Given the description of an element on the screen output the (x, y) to click on. 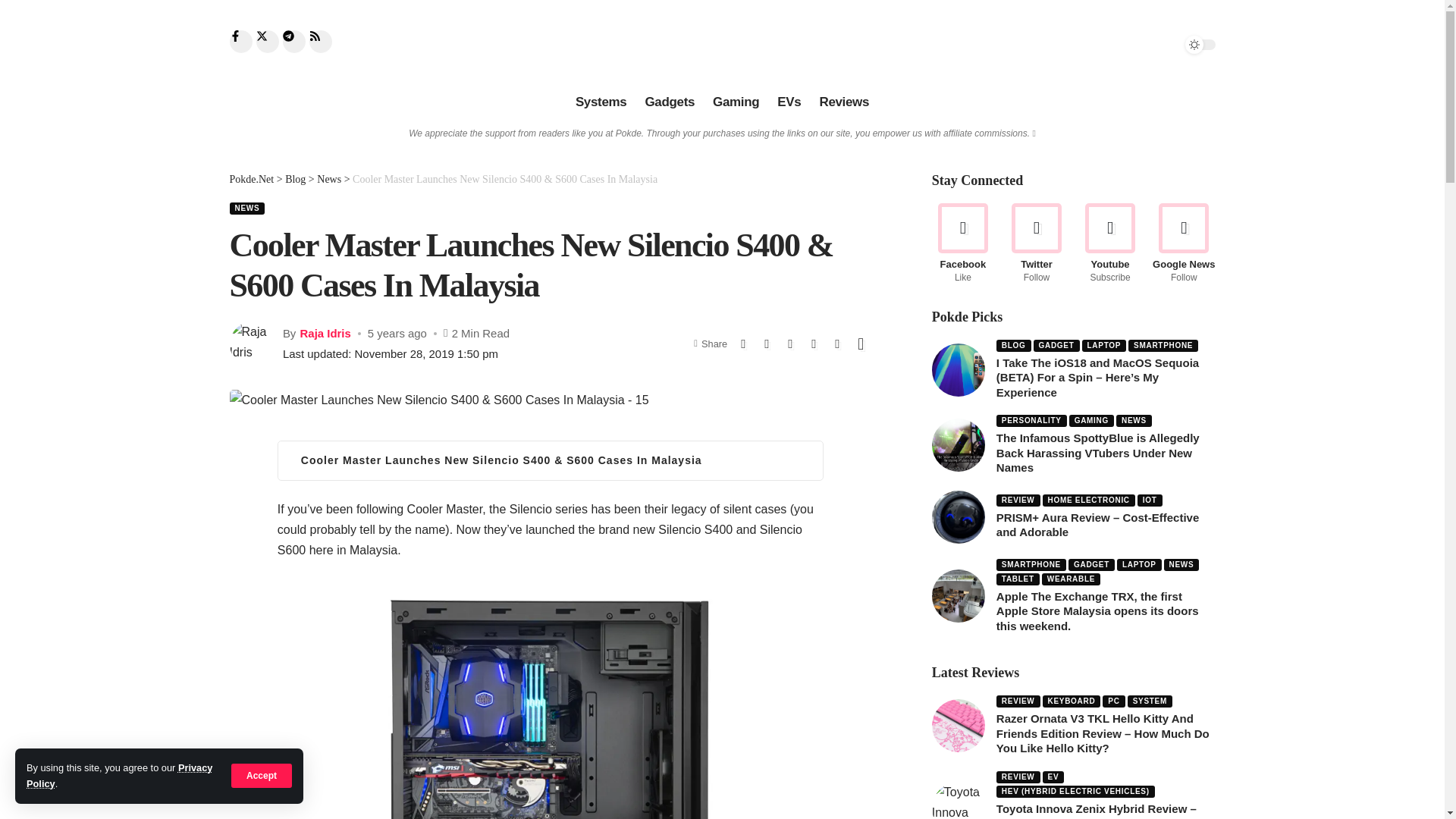
Go to Pokde.Net. (250, 179)
Go to Blog. (295, 179)
Reviews (843, 102)
Accept (261, 775)
Privacy Policy (119, 775)
EVs (788, 102)
Systems (601, 102)
Gadgets (668, 102)
Go to the News Category archives. (328, 179)
Gaming (735, 102)
